Given the description of an element on the screen output the (x, y) to click on. 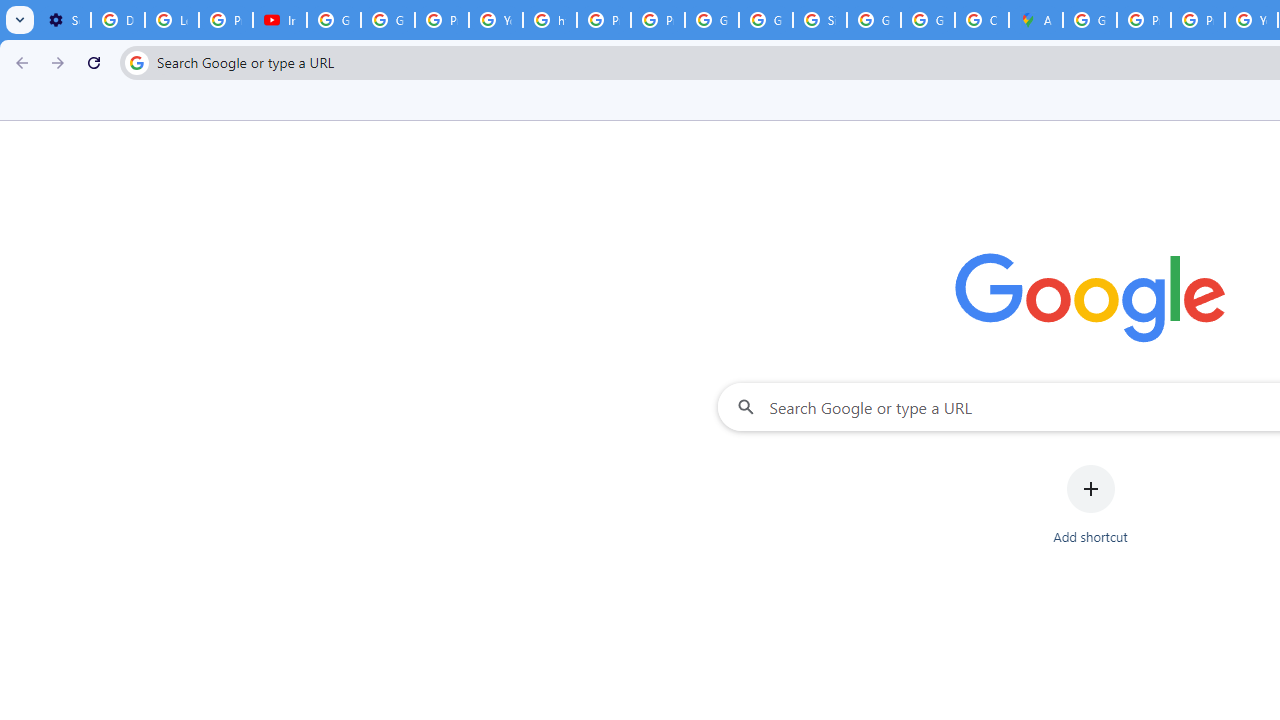
Delete photos & videos - Computer - Google Photos Help (117, 20)
Google Account Help (387, 20)
Introduction | Google Privacy Policy - YouTube (280, 20)
Settings - Performance (63, 20)
Privacy Help Center - Policies Help (604, 20)
Learn how to find your photos - Google Photos Help (171, 20)
Google Account Help (333, 20)
https://scholar.google.com/ (550, 20)
Privacy Help Center - Policies Help (1197, 20)
